Given the description of an element on the screen output the (x, y) to click on. 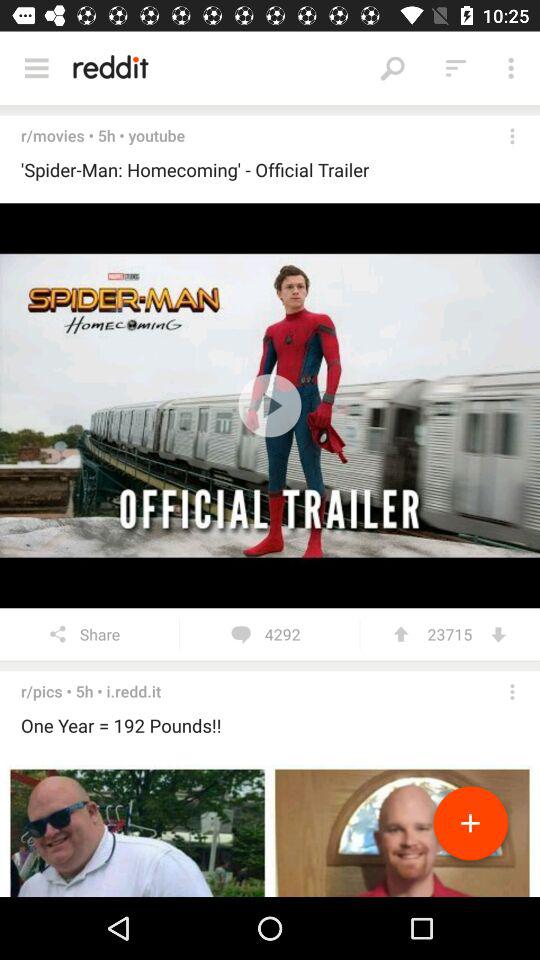
i dislike this (498, 634)
